Given the description of an element on the screen output the (x, y) to click on. 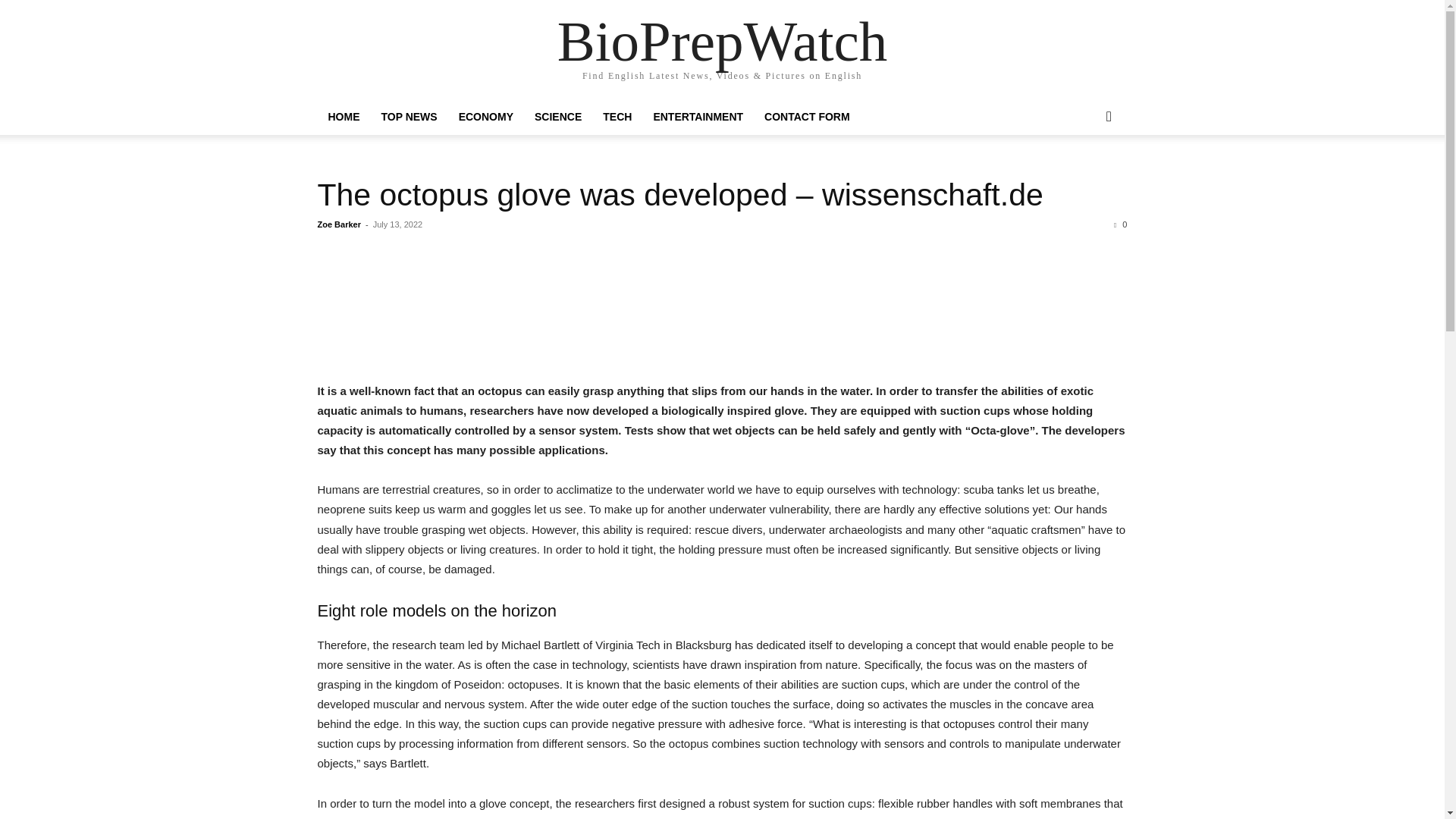
HOME (343, 116)
0 (1119, 224)
SCIENCE (558, 116)
BioPrepWatch (722, 41)
Search (1085, 177)
ECONOMY (486, 116)
CONTACT FORM (807, 116)
Zoe Barker (338, 224)
TECH (617, 116)
ENTERTAINMENT (698, 116)
TOP NEWS (407, 116)
